Given the description of an element on the screen output the (x, y) to click on. 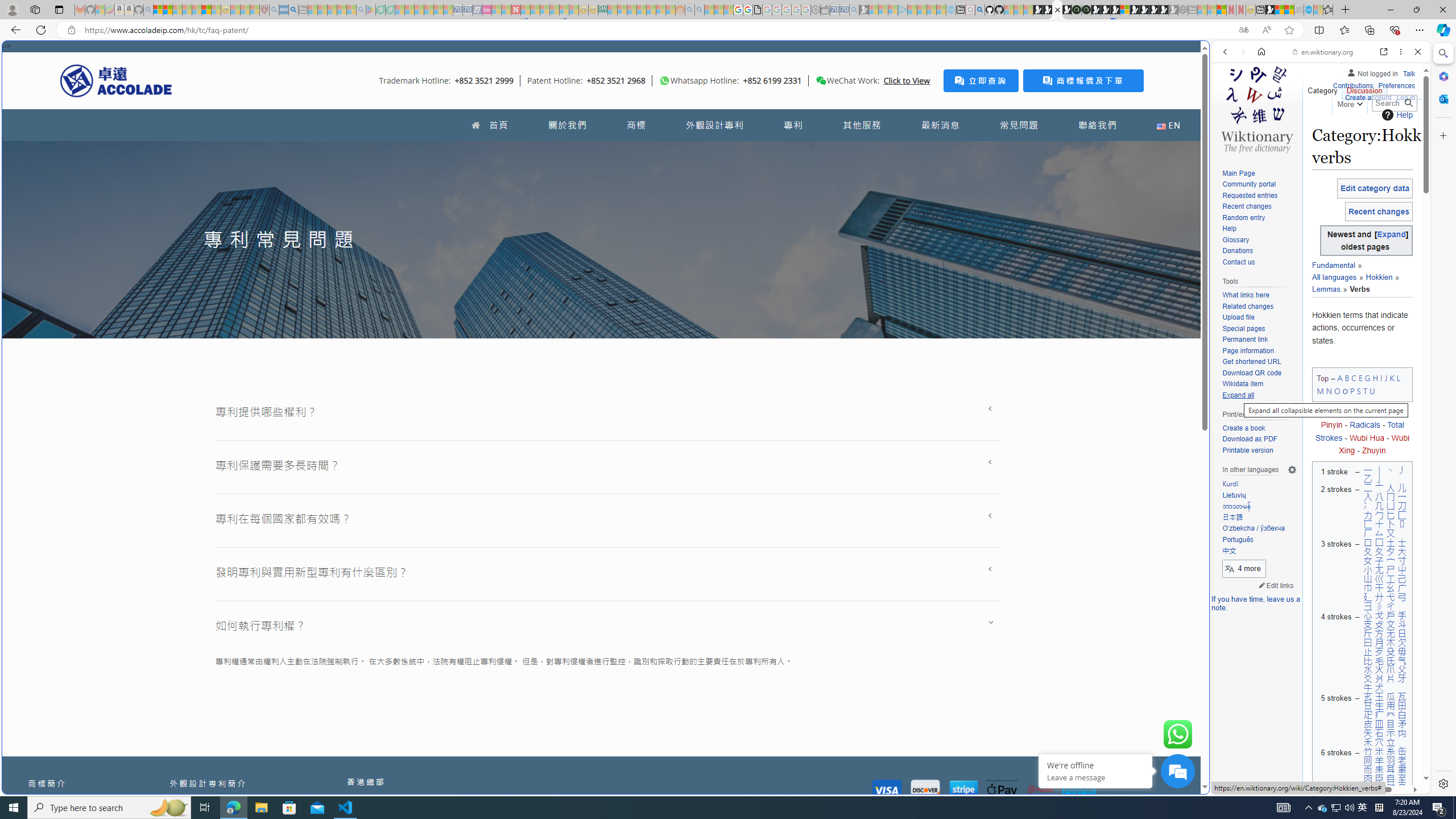
Related changes (1247, 306)
Show translate options (1243, 29)
Four Corner (1377, 411)
Language settings (1292, 470)
